Given the description of an element on the screen output the (x, y) to click on. 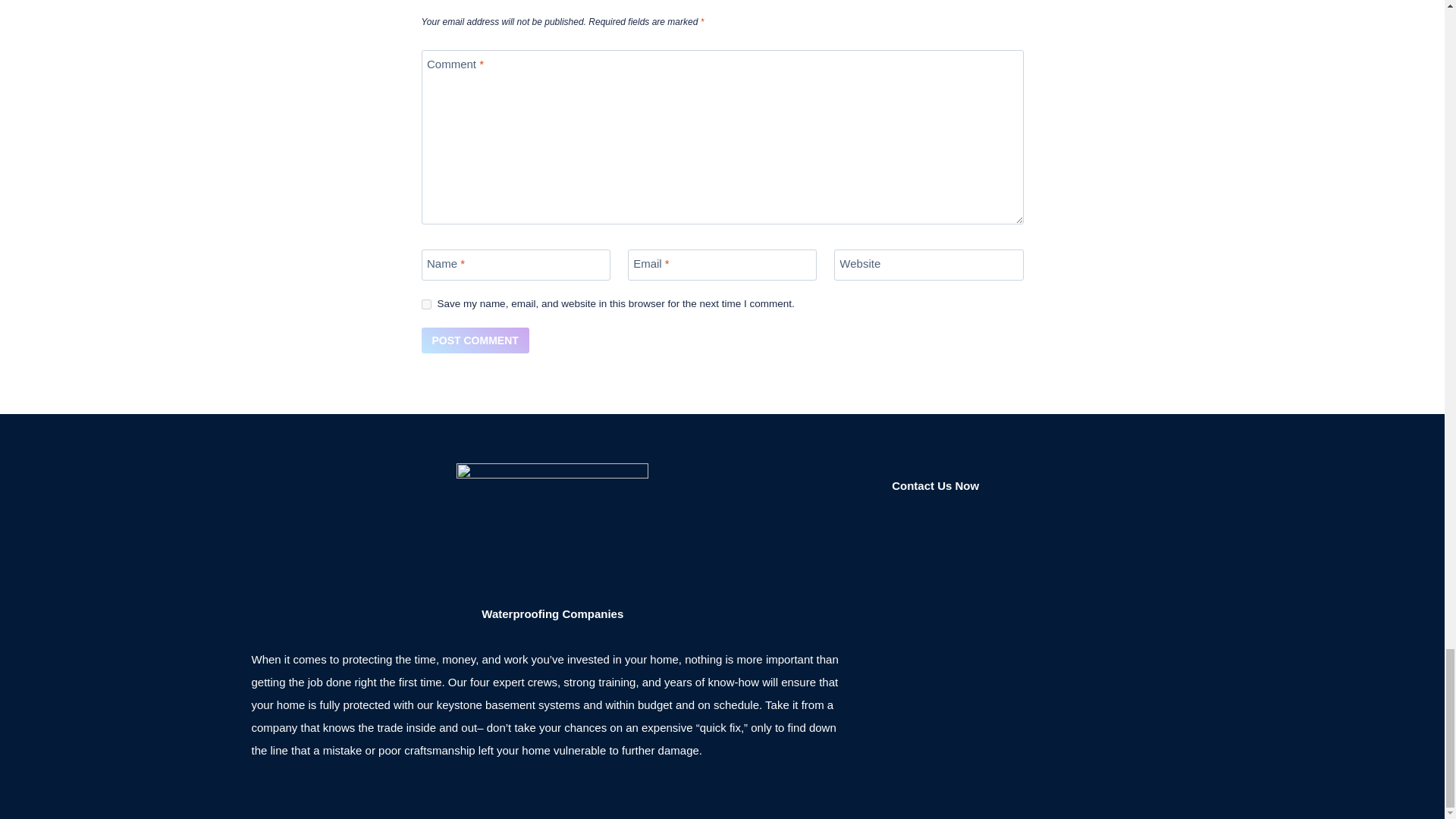
yes (426, 304)
Post Comment (475, 339)
